Given the description of an element on the screen output the (x, y) to click on. 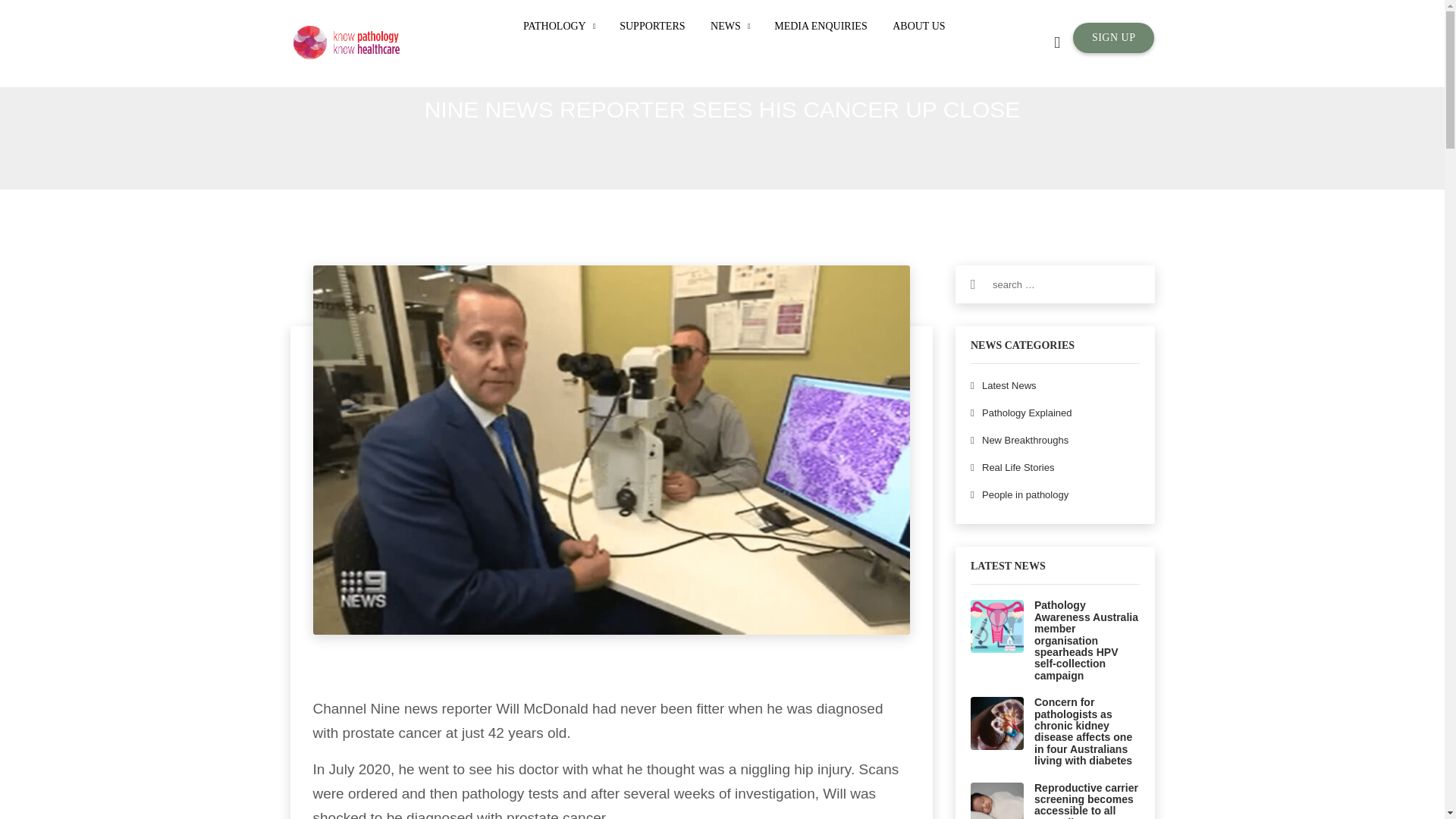
SUPPORTERS (651, 26)
MEDIA ENQUIRIES (820, 26)
PATHOLOGY (558, 26)
NEWS (729, 26)
ABOUT US (918, 26)
